Given the description of an element on the screen output the (x, y) to click on. 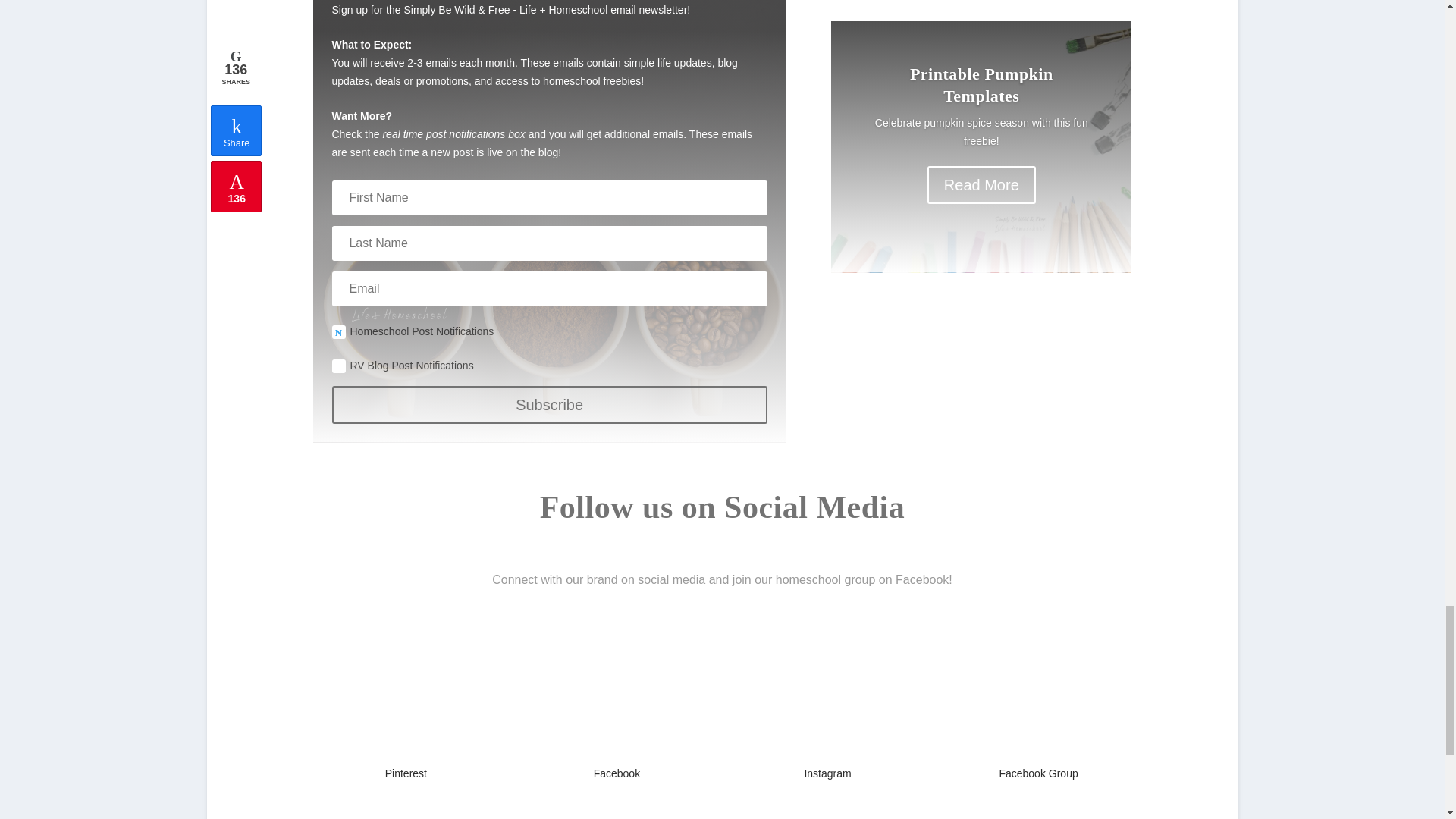
Subscribe (549, 404)
